Given the description of an element on the screen output the (x, y) to click on. 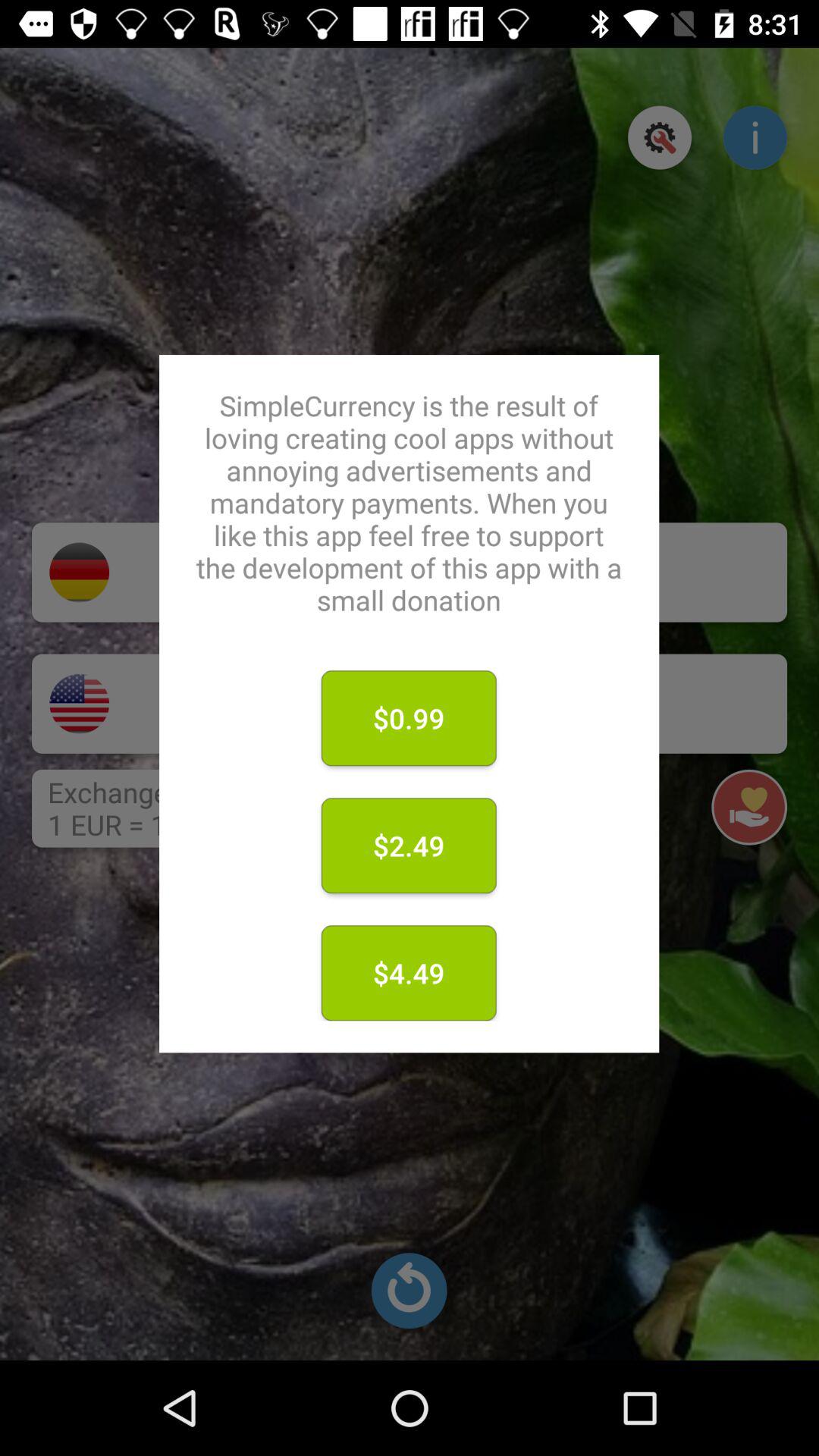
select country (79, 703)
